Given the description of an element on the screen output the (x, y) to click on. 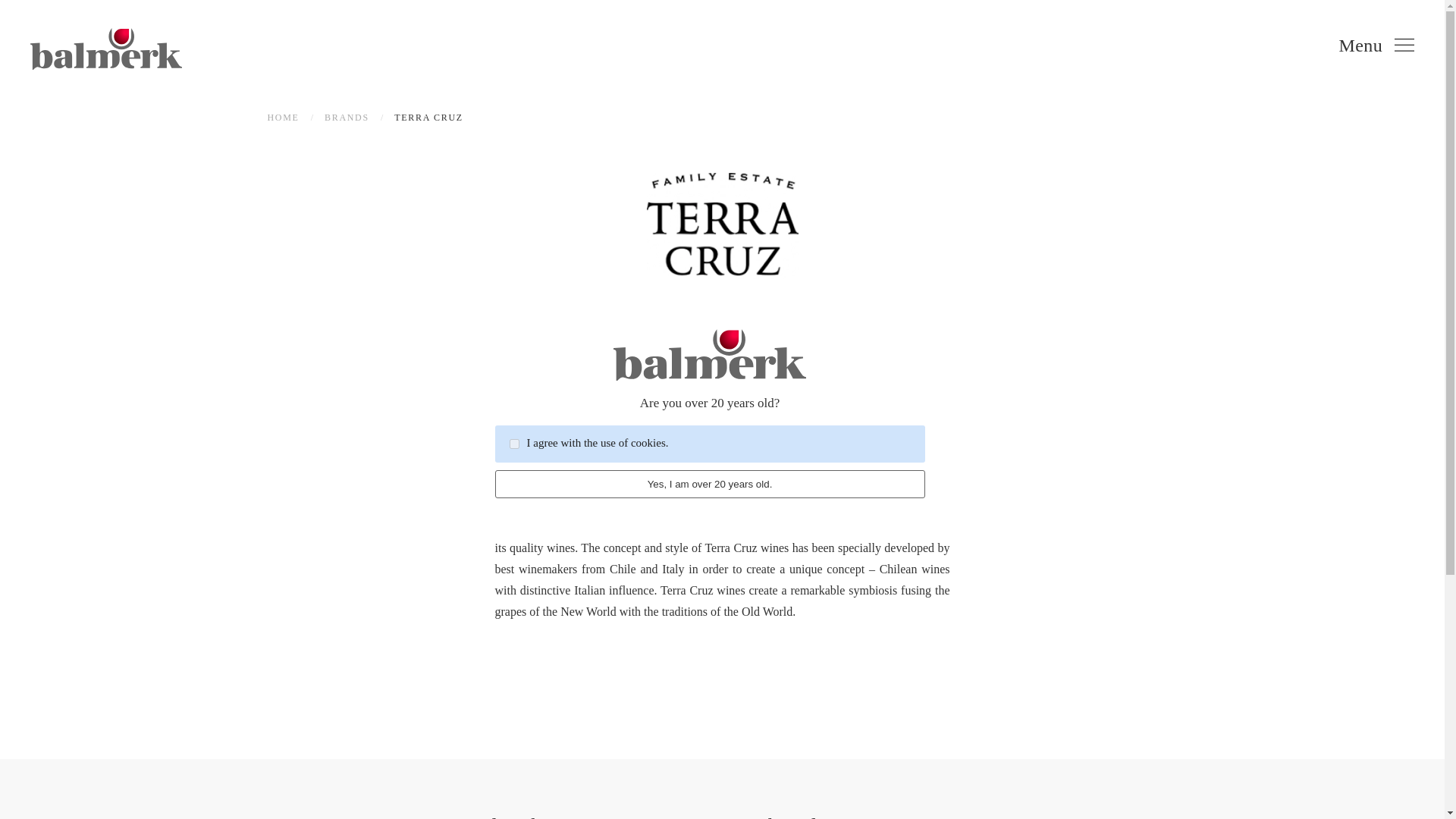
1 (514, 443)
HOME (282, 117)
Our brands (852, 815)
BRANDS (346, 117)
TERRA CRUZ (721, 330)
Contact us (1115, 815)
Yes, I am over 20 years old. (709, 483)
Yes, I am over 20 years old. (709, 483)
Balmerk (591, 815)
